Given the description of an element on the screen output the (x, y) to click on. 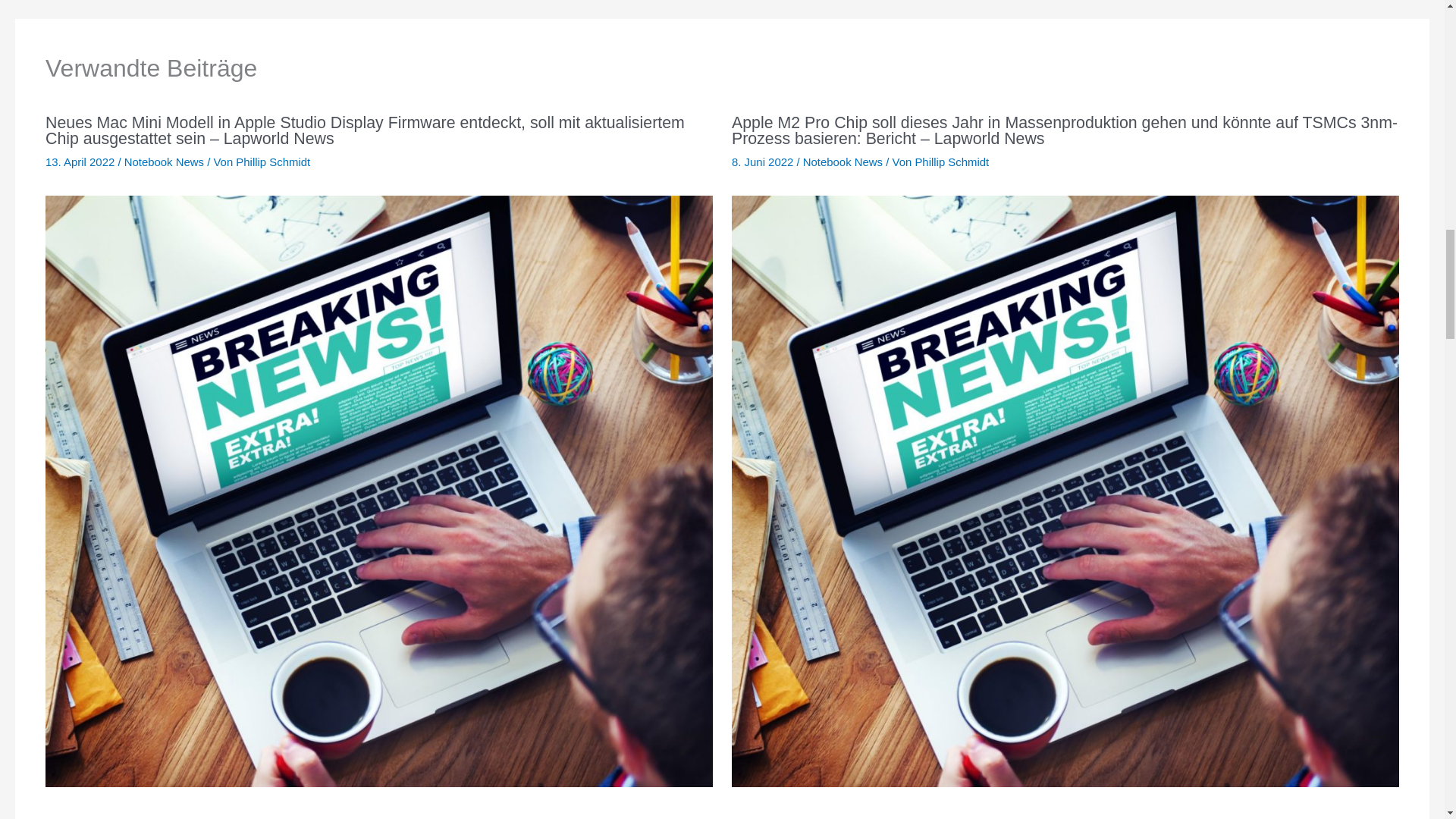
Phillip Schmidt (272, 161)
Notebook News (163, 161)
Notebook News (842, 161)
Phillip Schmidt (951, 161)
